Given the description of an element on the screen output the (x, y) to click on. 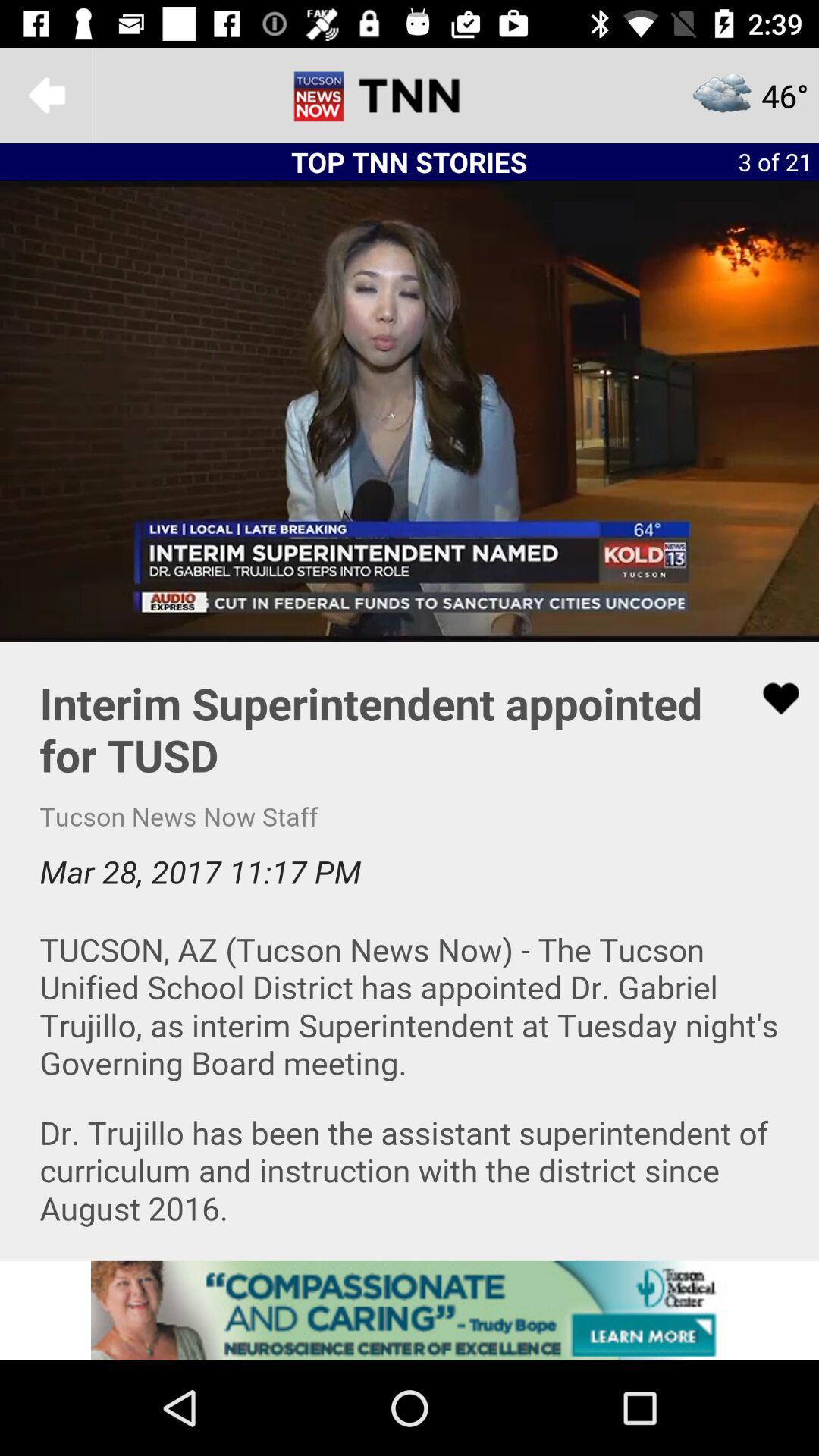
back to previous menu (47, 95)
